Given the description of an element on the screen output the (x, y) to click on. 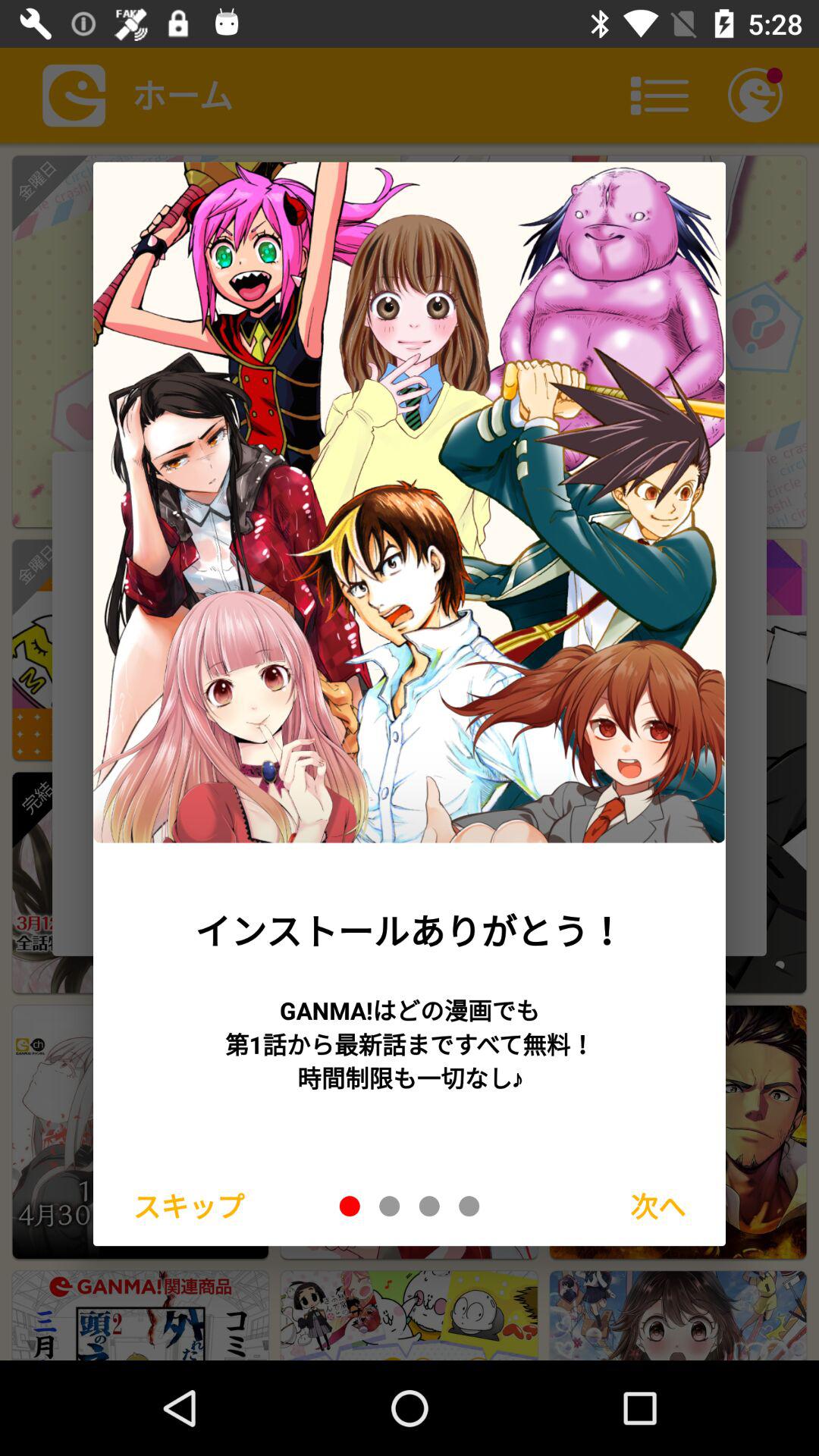
last picture (469, 1206)
